Given the description of an element on the screen output the (x, y) to click on. 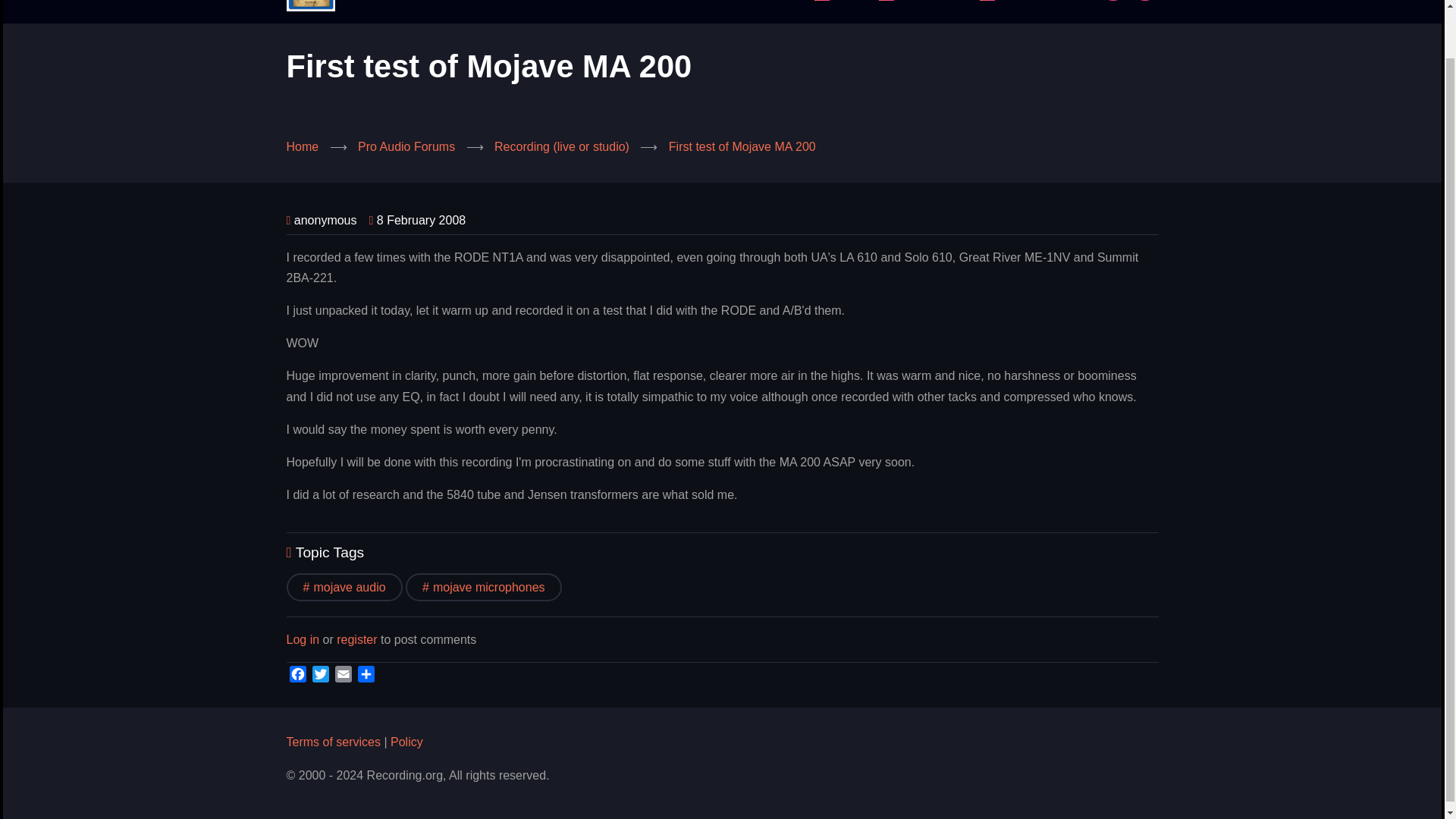
Pro Audio Forums (835, 0)
Facebook (297, 674)
View user profile. (325, 219)
Home (302, 146)
register (356, 639)
Pro Audio Forums (406, 146)
Twitter (319, 674)
Share (366, 674)
Forums (835, 0)
mojave audio (344, 587)
Log in (303, 639)
anonymous (325, 219)
